Given the description of an element on the screen output the (x, y) to click on. 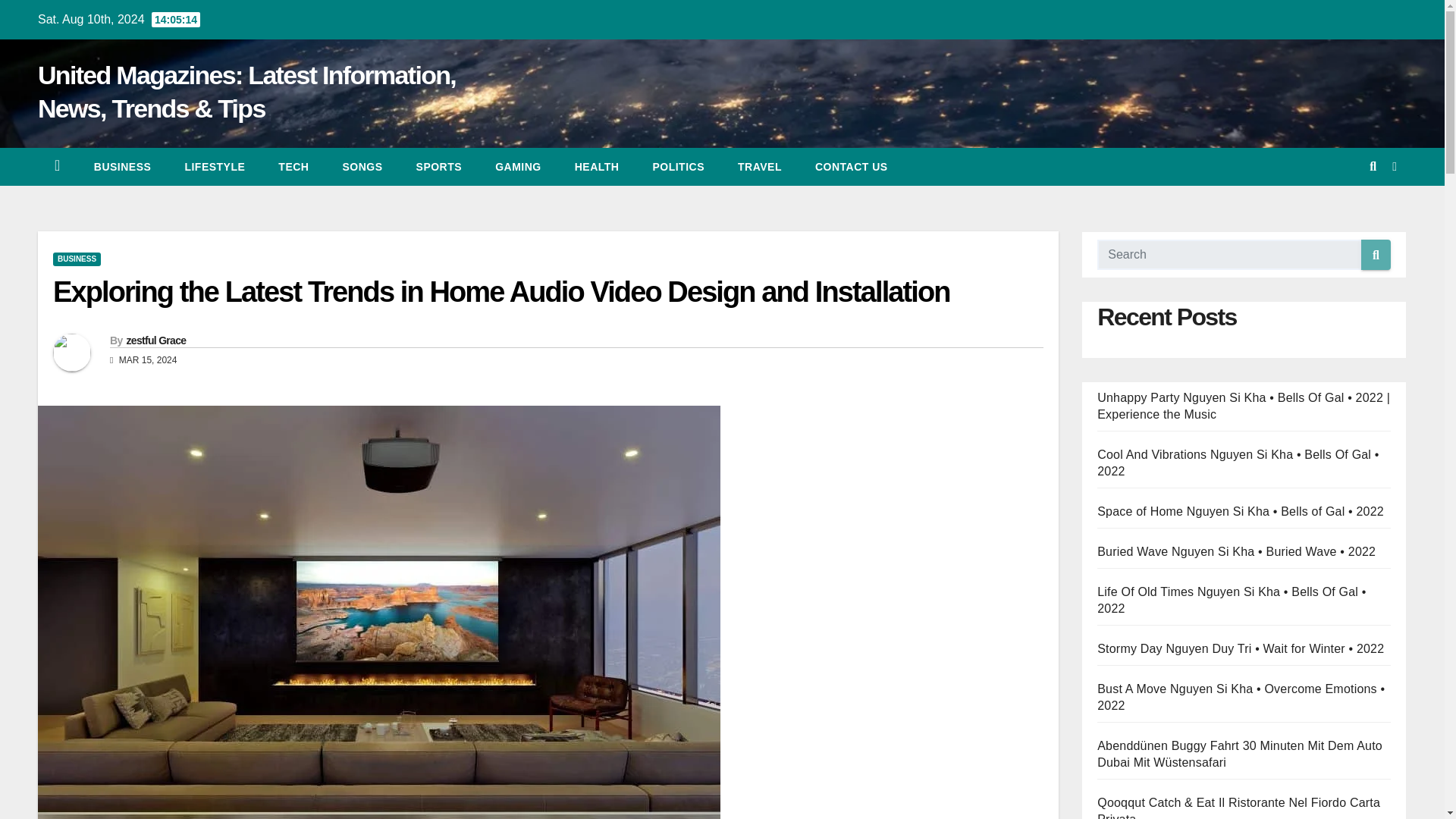
Lifestyle (214, 166)
Business (122, 166)
CONTACT US (850, 166)
BUSINESS (122, 166)
Songs (361, 166)
Politics (677, 166)
TRAVEL (758, 166)
HEALTH (596, 166)
Health (596, 166)
